Given the description of an element on the screen output the (x, y) to click on. 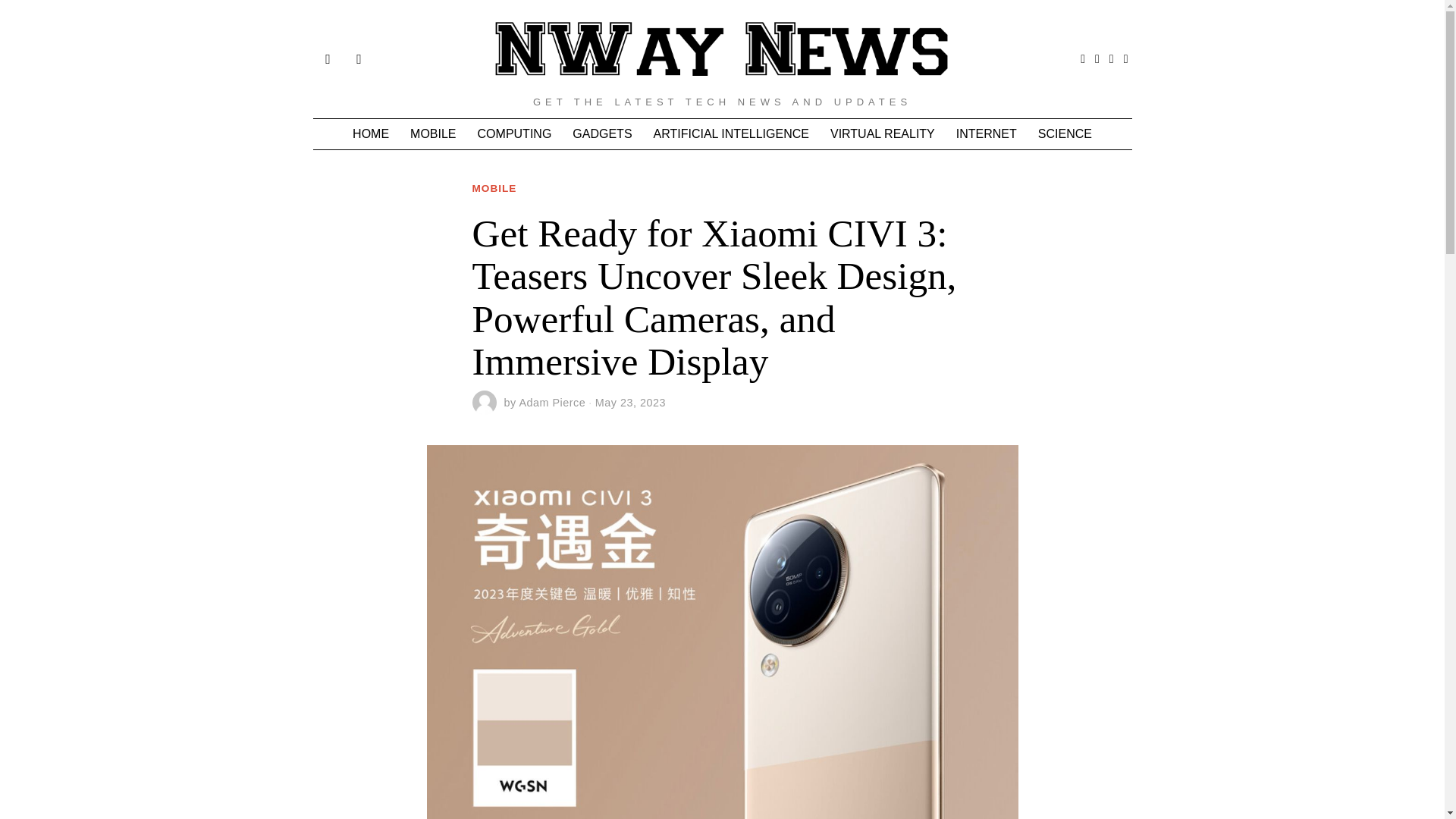
VIRTUAL REALITY (881, 133)
HOME (370, 133)
GADGETS (602, 133)
MOBILE (431, 133)
SCIENCE (1064, 133)
Adam Pierce (551, 402)
ARTIFICIAL INTELLIGENCE (731, 133)
COMPUTING (514, 133)
INTERNET (985, 133)
MOBILE (493, 188)
